Given the description of an element on the screen output the (x, y) to click on. 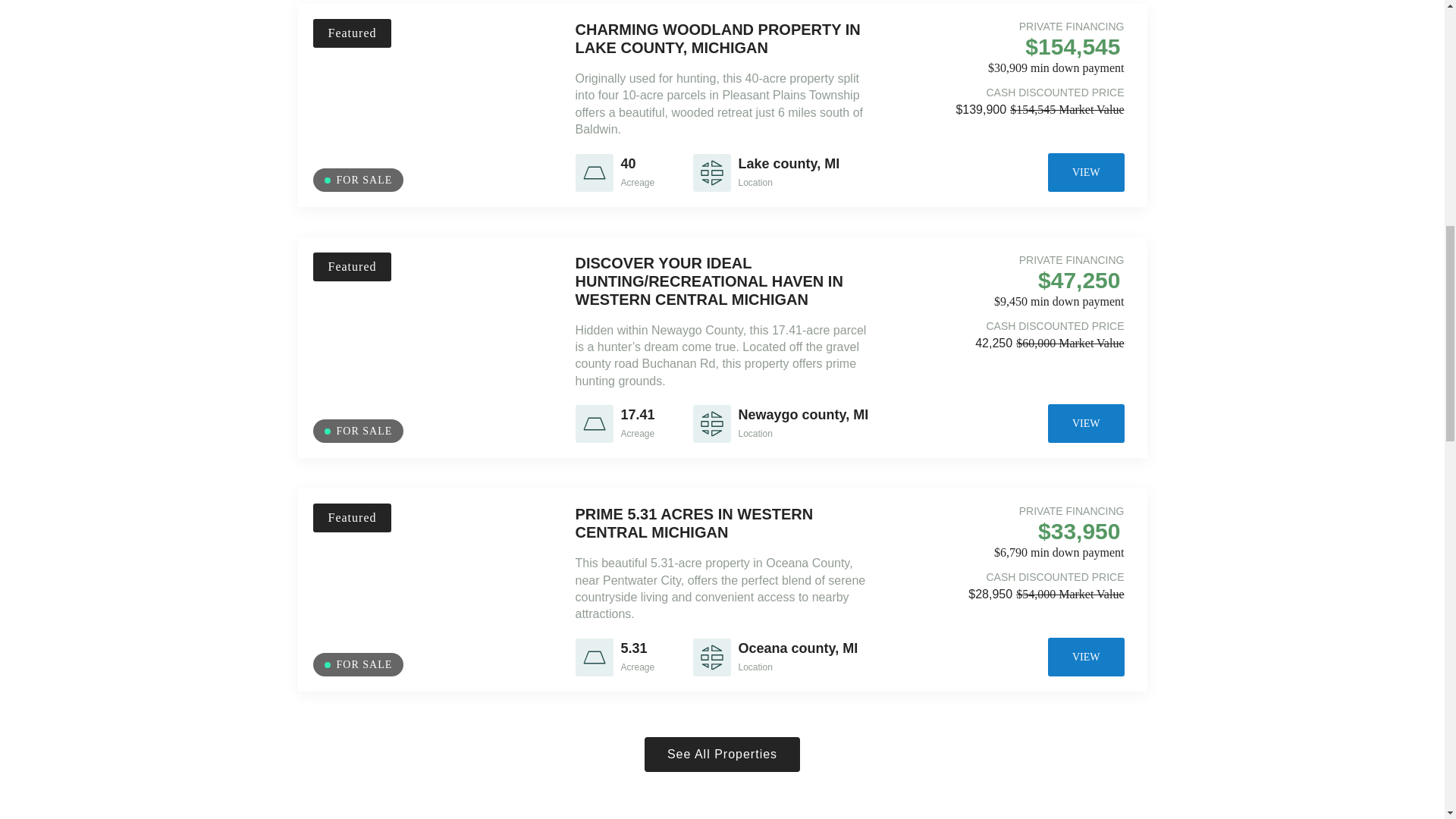
VIEW (1086, 423)
VIEW (1086, 657)
VIEW (1086, 172)
CHARMING WOODLAND PROPERTY IN LAKE COUNTY, MICHIGAN (717, 38)
PRIME 5.31 ACRES IN WESTERN CENTRAL MICHIGAN (693, 523)
See All Properties (722, 754)
